Given the description of an element on the screen output the (x, y) to click on. 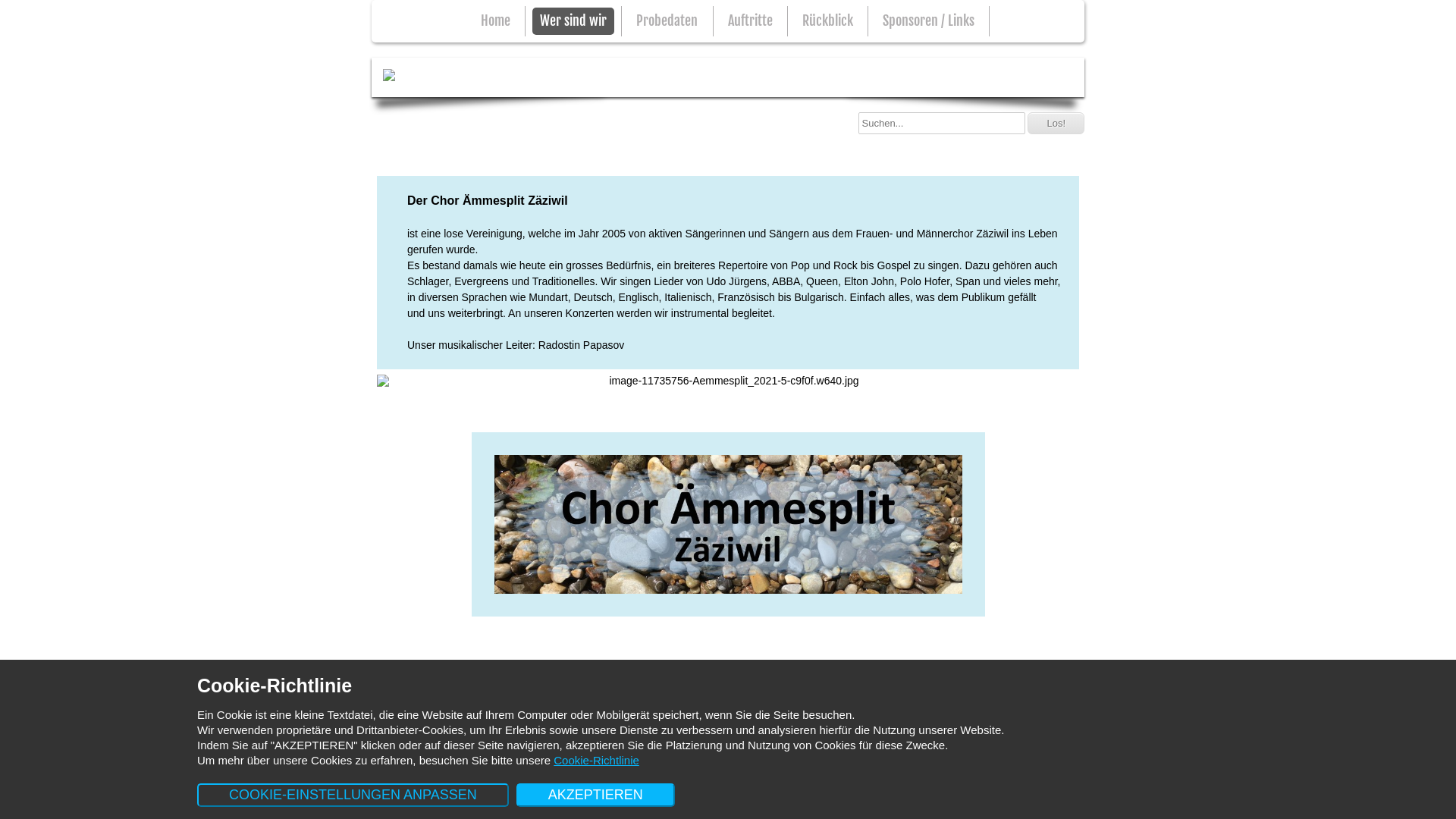
Impressum Element type: text (408, 740)
Home Element type: text (495, 20)
COOKIE-EINSTELLUNGEN ANPASSEN Element type: text (352, 794)
Home Element type: text (784, 718)
Auftritte Element type: text (938, 718)
Wer sind wir Element type: text (573, 20)
Auftritte Element type: text (750, 20)
AKZEPTIEREN Element type: text (595, 794)
Probedaten Element type: text (888, 718)
Los! Element type: text (1055, 123)
Sponsoren / Links Element type: text (928, 20)
Cookie-Richtlinie Element type: text (596, 759)
Sponsoren / Links Element type: text (1047, 718)
Probedaten Element type: text (666, 20)
Wer sind wir Element type: text (832, 718)
